Given the description of an element on the screen output the (x, y) to click on. 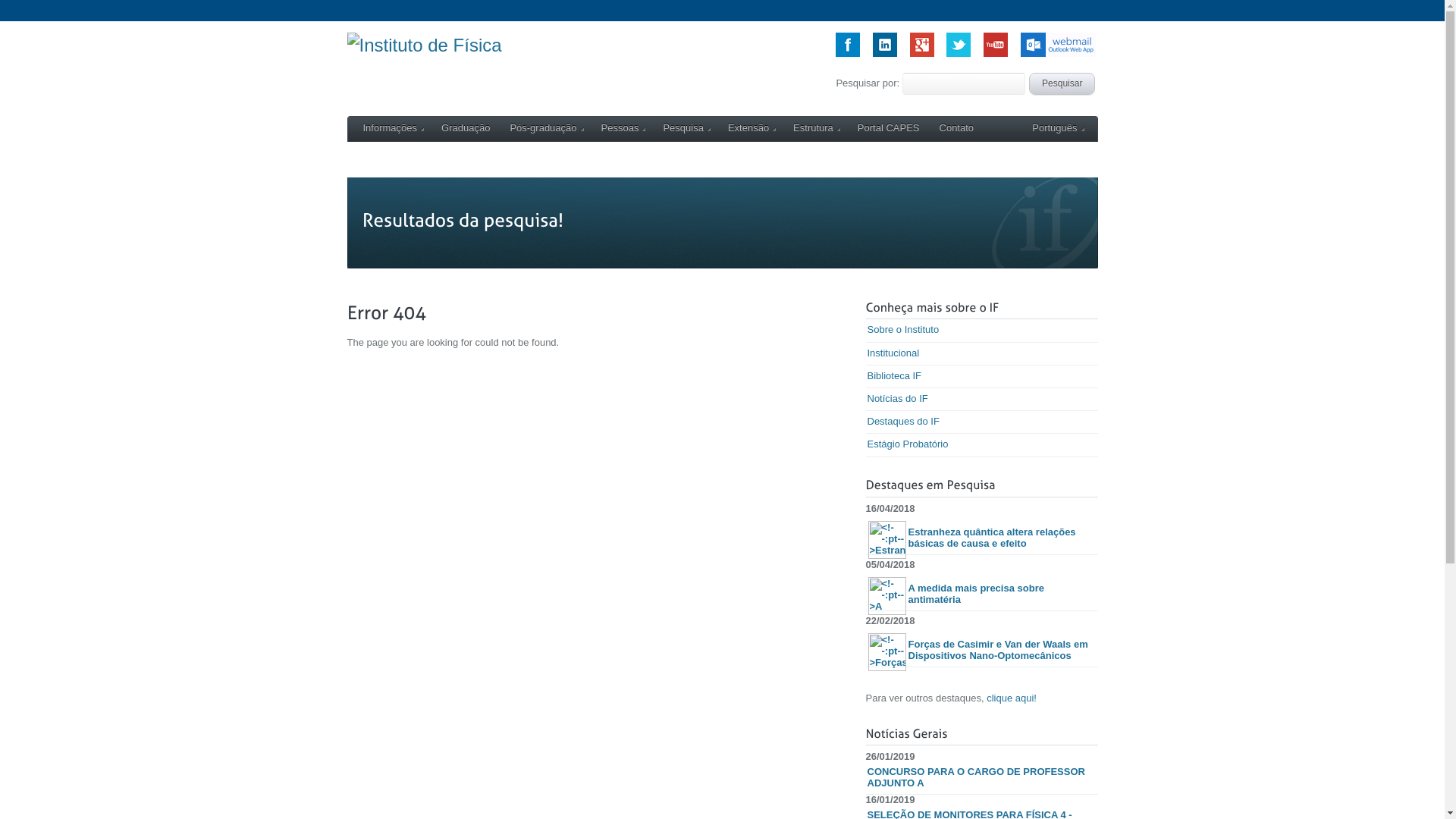
Contato Element type: text (956, 128)
Pessoas Element type: text (622, 128)
Error 404 Element type: hover (592, 311)
Institucional Element type: text (982, 353)
Google Plus Element type: hover (922, 53)
LinkedIn Element type: hover (884, 53)
Estrutura Element type: text (815, 128)
Biblioteca IF Element type: text (982, 376)
clique aqui! Element type: text (1011, 697)
CONCURSO PARA O CARGO DE PROFESSOR ADJUNTO A Element type: text (982, 777)
Webmail Outlook Web App Element type: hover (1058, 53)
Destaques do IF Element type: text (982, 422)
Sobre o Instituto Element type: text (982, 330)
Pesquisa Element type: text (684, 128)
Portal CAPES Element type: text (888, 128)
Twitter Element type: hover (958, 53)
Canal do IF no YouTube Element type: hover (995, 53)
Facebook Element type: hover (847, 53)
Pesquisar Element type: text (1062, 83)
